Given the description of an element on the screen output the (x, y) to click on. 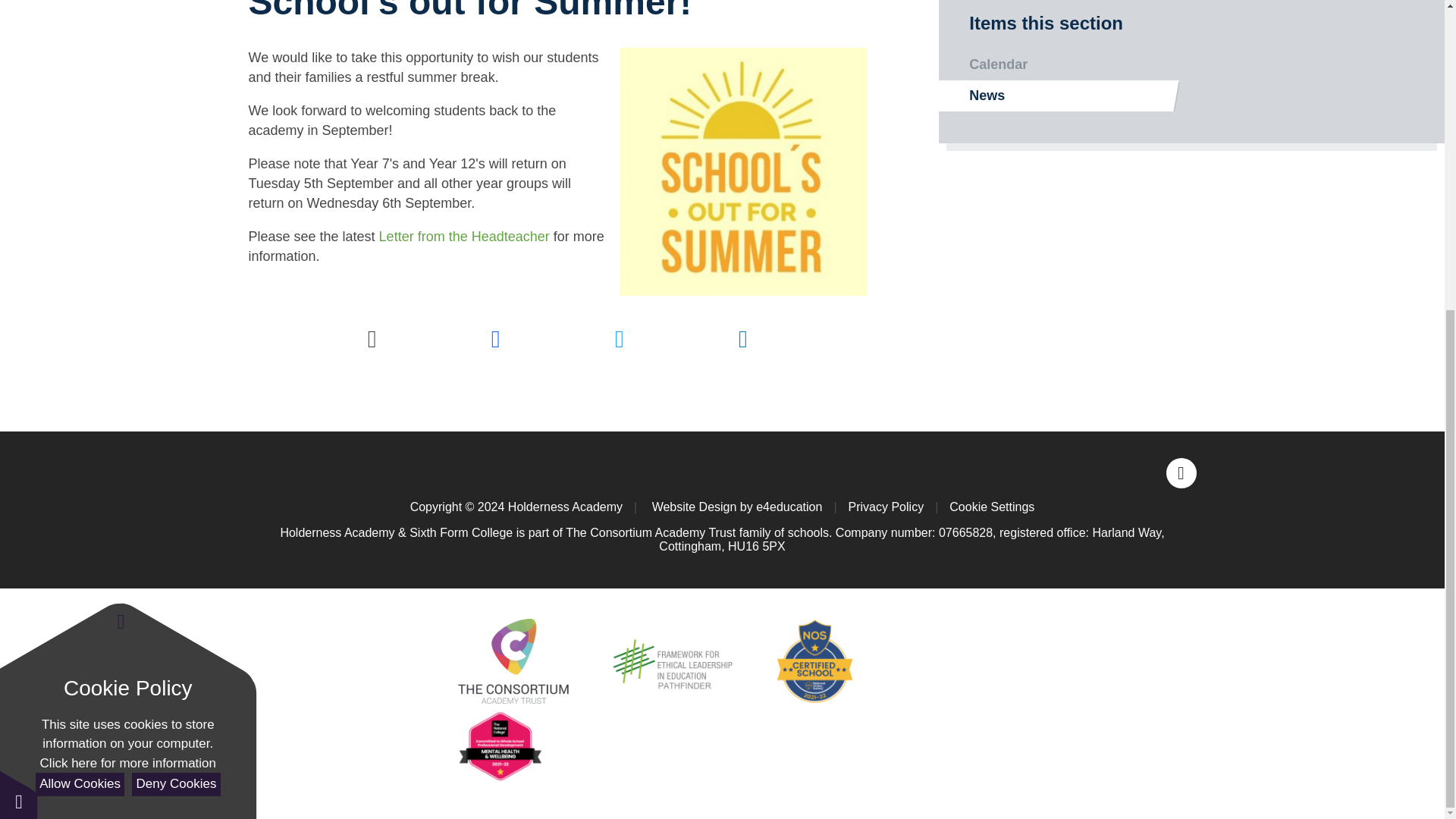
Deny Cookies (175, 291)
See cookie policy (127, 271)
Allow Cookies (78, 291)
Cookie Settings (991, 505)
